Given the description of an element on the screen output the (x, y) to click on. 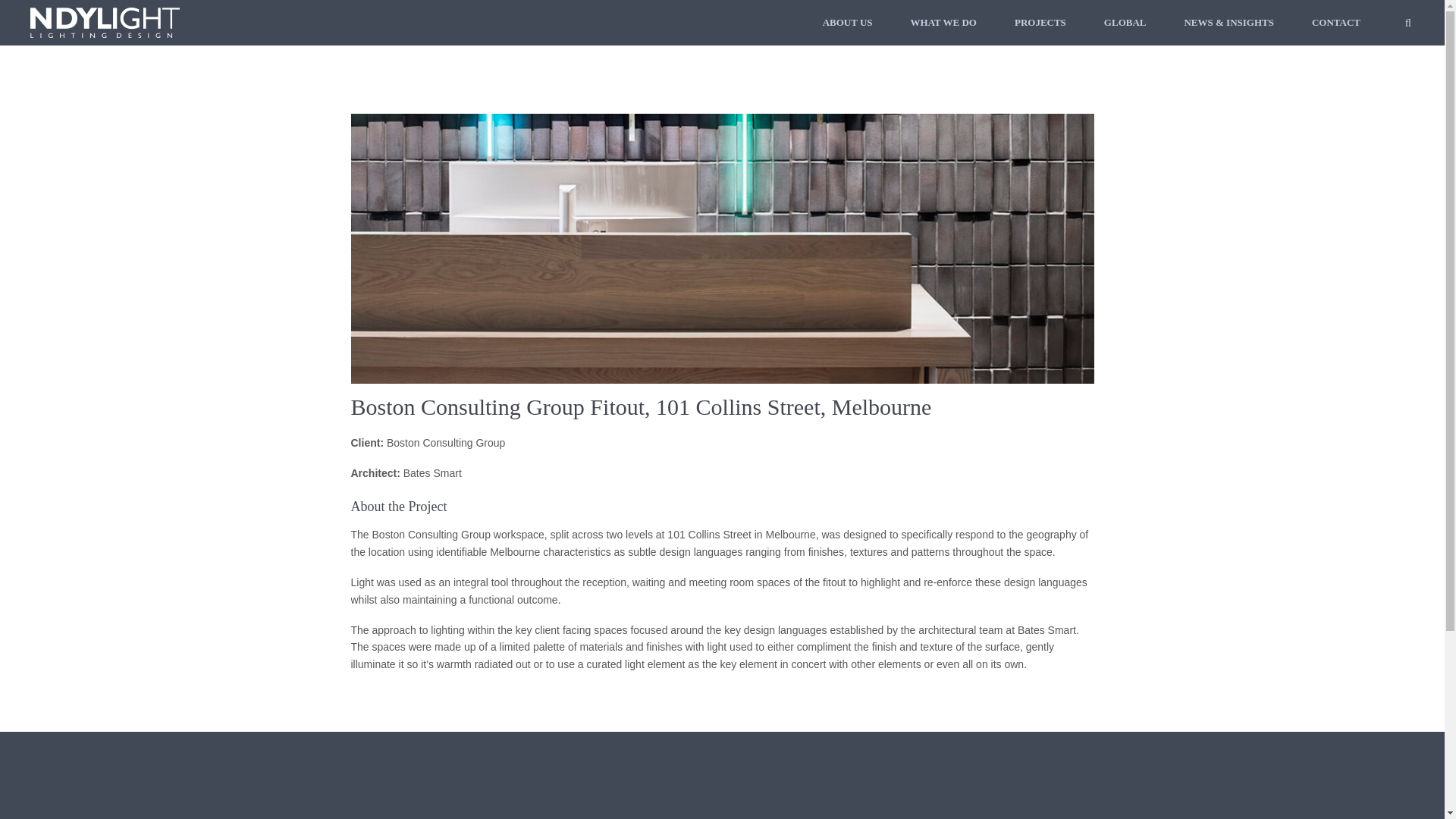
ABOUT US (582, 817)
PROJECTS (1039, 22)
WHAT WE DO (768, 817)
CONTACT (936, 817)
GLOBAL (1125, 22)
ABOUT US (847, 22)
WHAT WE DO (943, 22)
CONTACT (1335, 22)
HOME (393, 817)
